Given the description of an element on the screen output the (x, y) to click on. 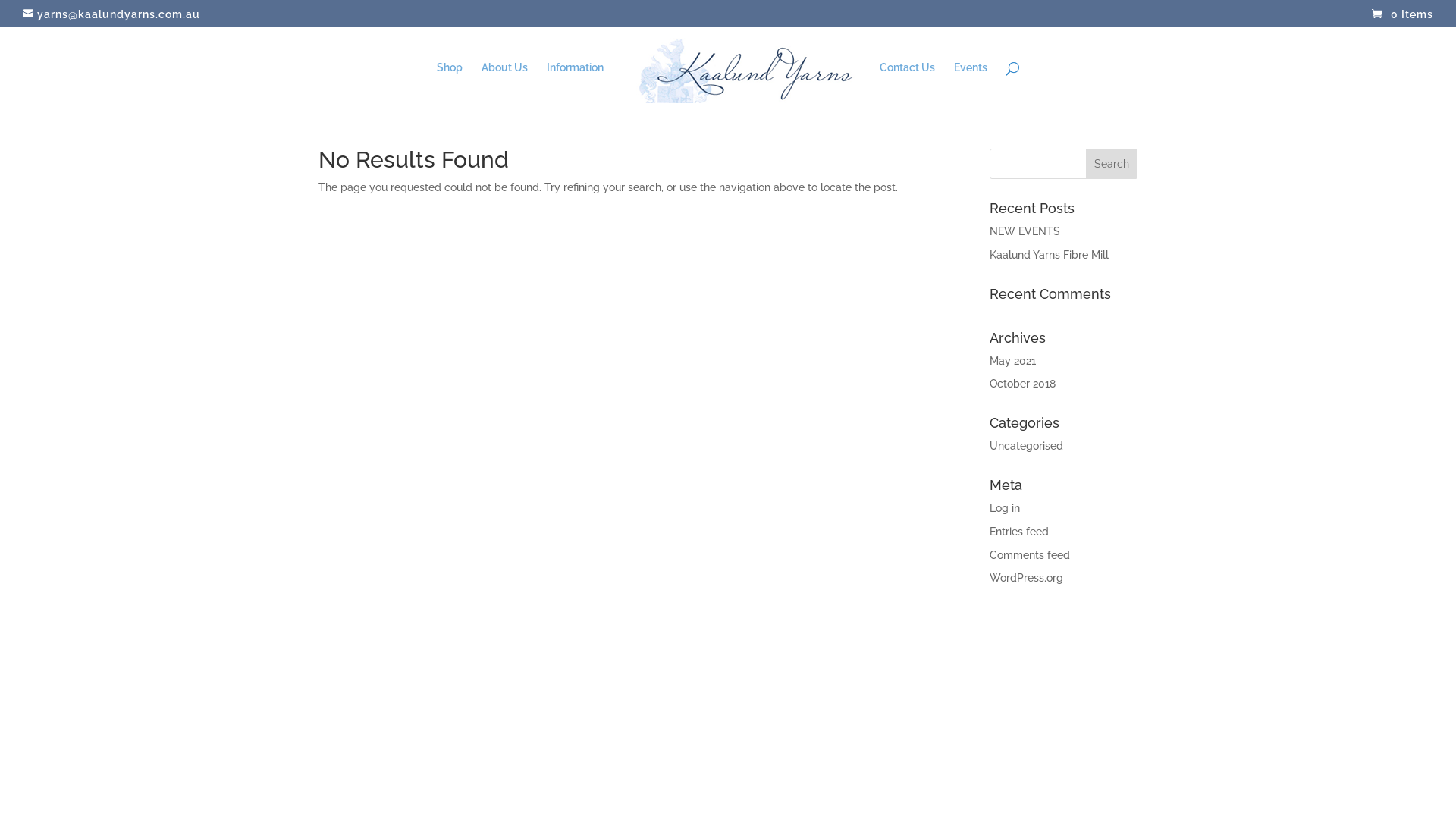
WordPress.org Element type: text (1026, 577)
Search Element type: text (1111, 163)
0 Items Element type: text (1402, 13)
Events Element type: text (970, 83)
Shop Element type: text (449, 83)
yarns@kaalundyarns.com.au Element type: text (111, 13)
Comments feed Element type: text (1029, 555)
NEW EVENTS Element type: text (1024, 231)
Contact Us Element type: text (907, 83)
Uncategorised Element type: text (1026, 445)
Kaalund Yarns Fibre Mill Element type: text (1048, 254)
May 2021 Element type: text (1012, 360)
Log in Element type: text (1004, 508)
October 2018 Element type: text (1022, 383)
Information Element type: text (574, 83)
About Us Element type: text (503, 83)
Entries feed Element type: text (1018, 531)
